Given the description of an element on the screen output the (x, y) to click on. 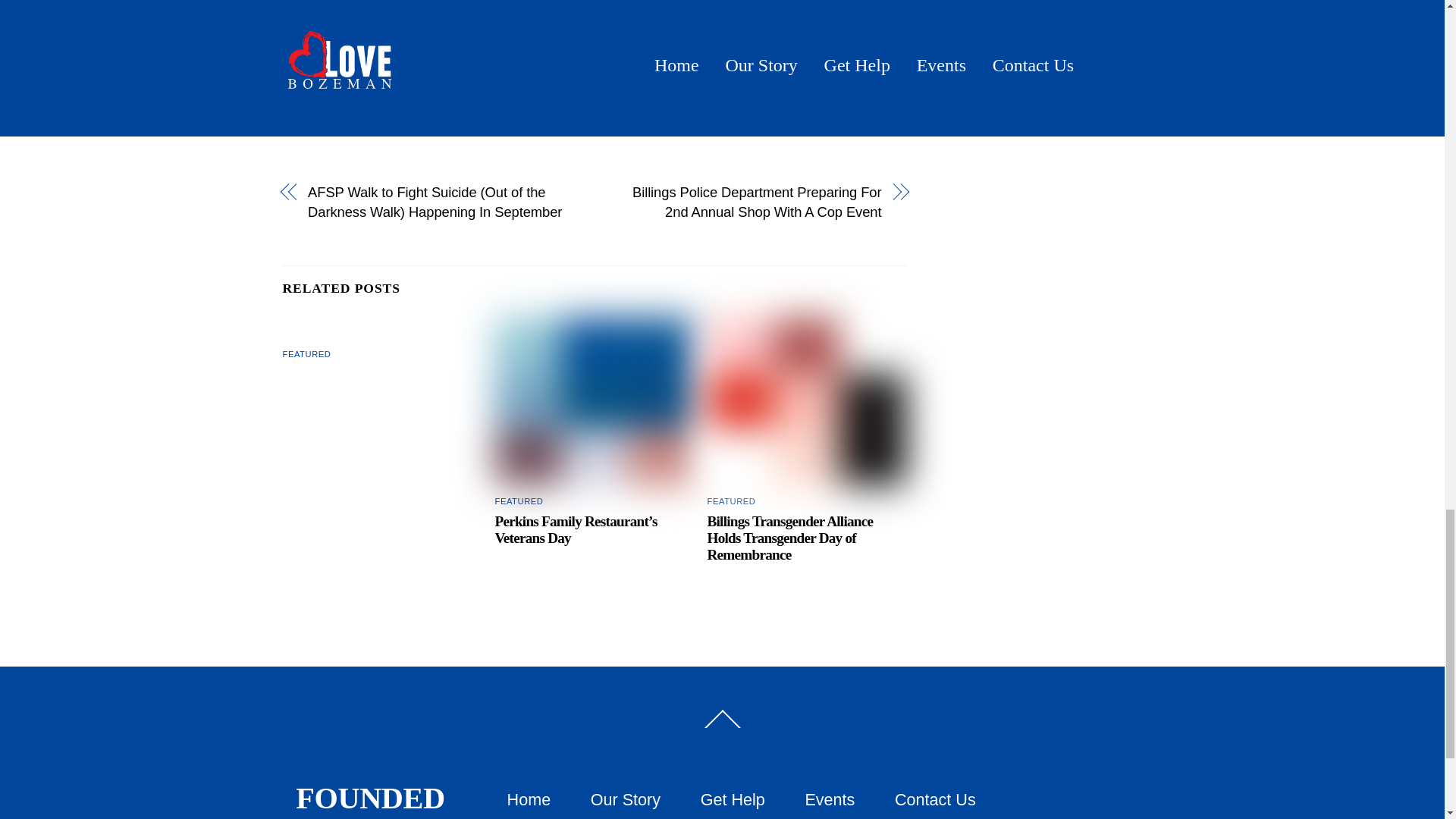
Love Billings 2 (595, 401)
Our Story (625, 799)
Events (829, 799)
FEATURED (306, 353)
FEATURED (519, 501)
Get Help (732, 799)
LOVE-Billings-Logo (807, 401)
FEATURED (731, 501)
Home (529, 799)
